Given the description of an element on the screen output the (x, y) to click on. 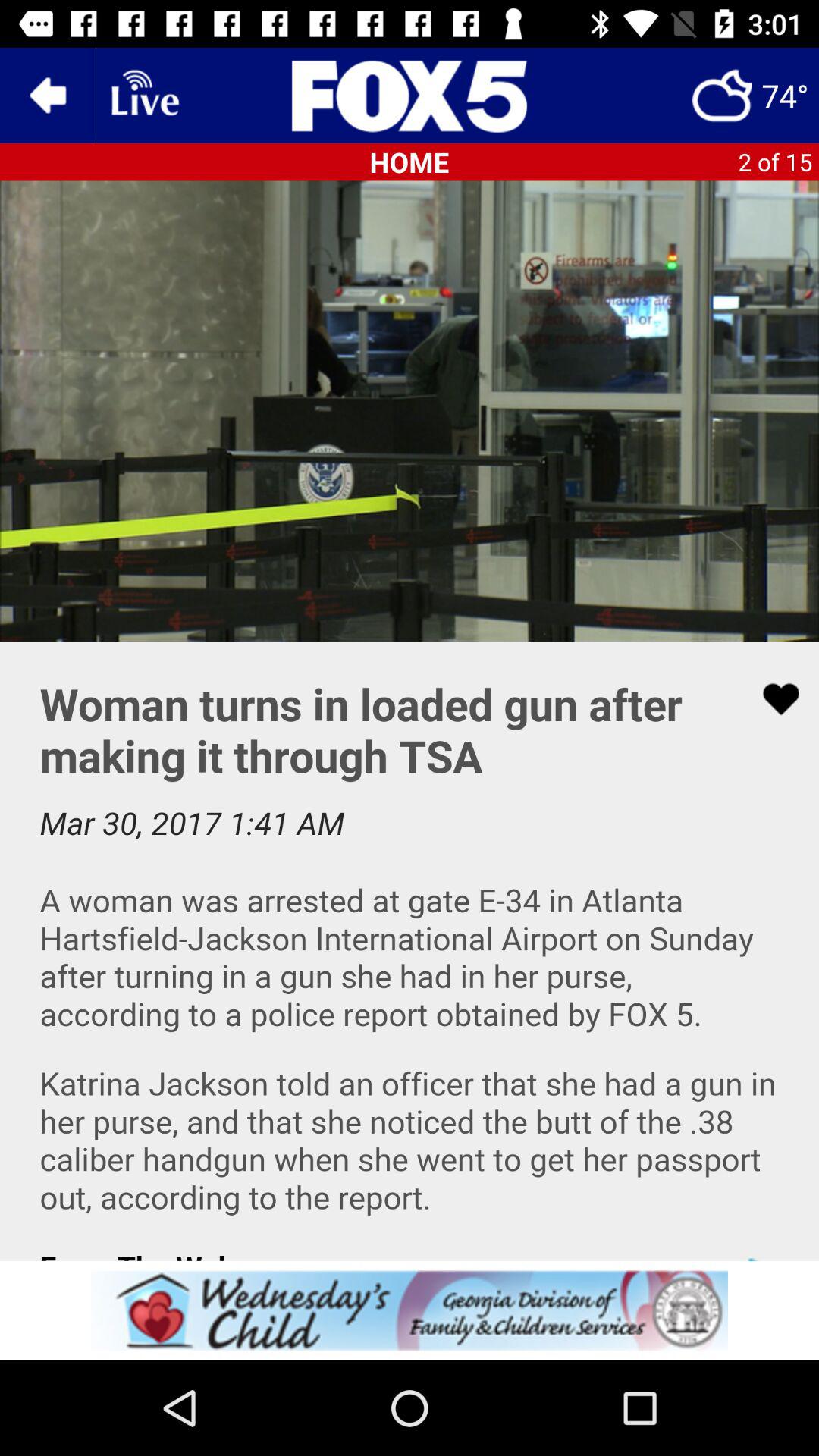
like the article (771, 699)
